Given the description of an element on the screen output the (x, y) to click on. 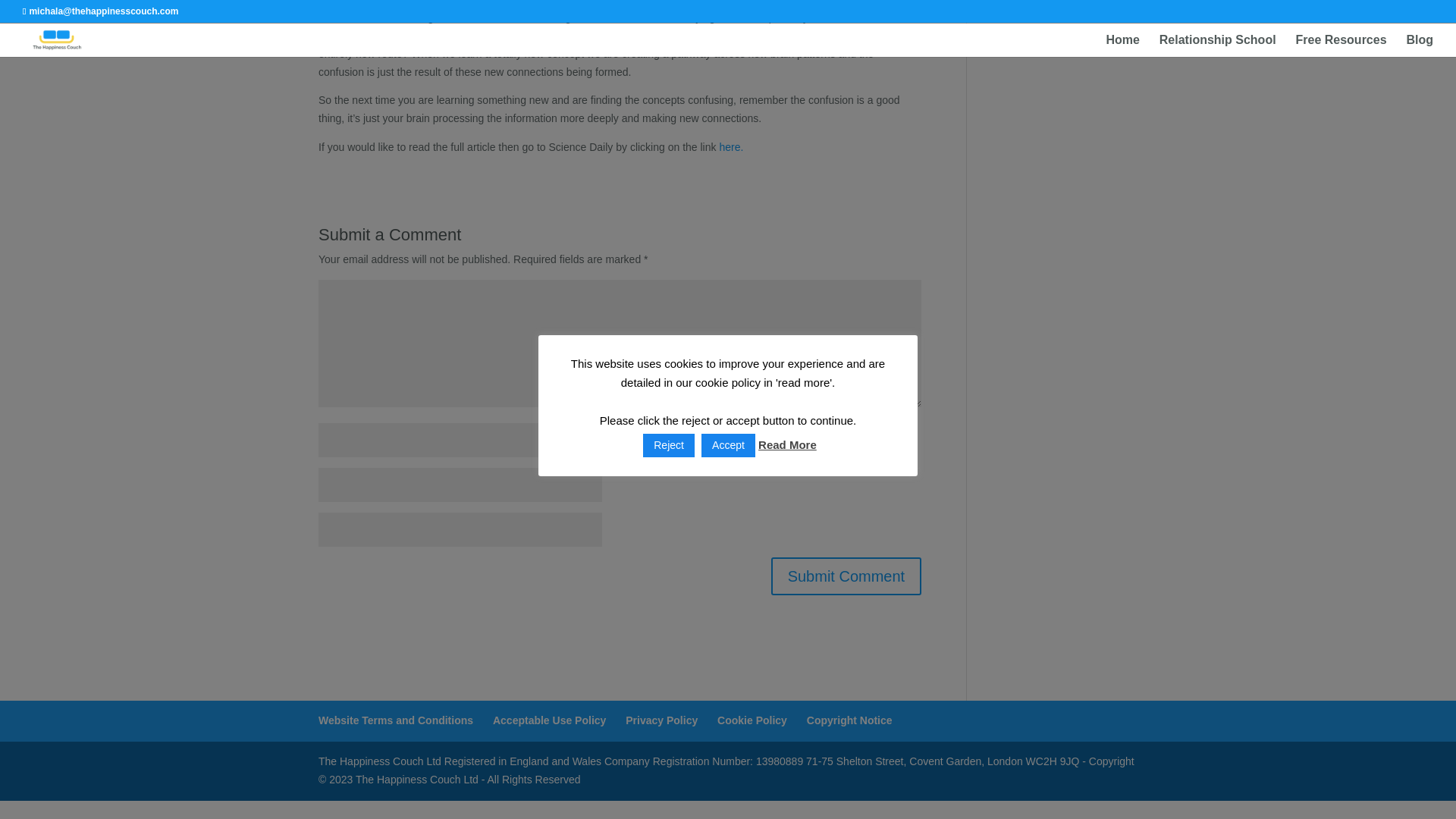
Submit Comment (846, 576)
